Given the description of an element on the screen output the (x, y) to click on. 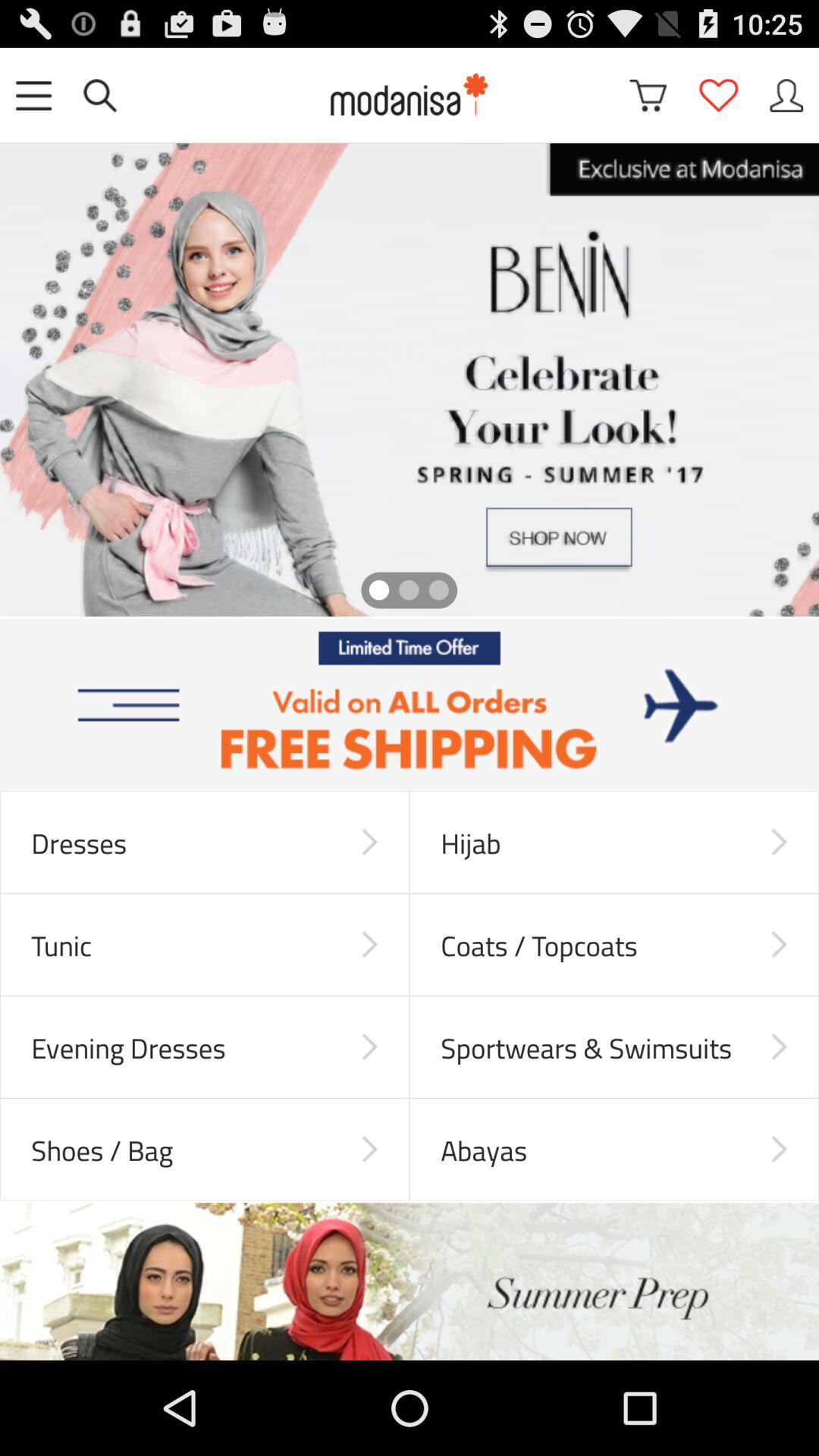
share this (786, 95)
